Given the description of an element on the screen output the (x, y) to click on. 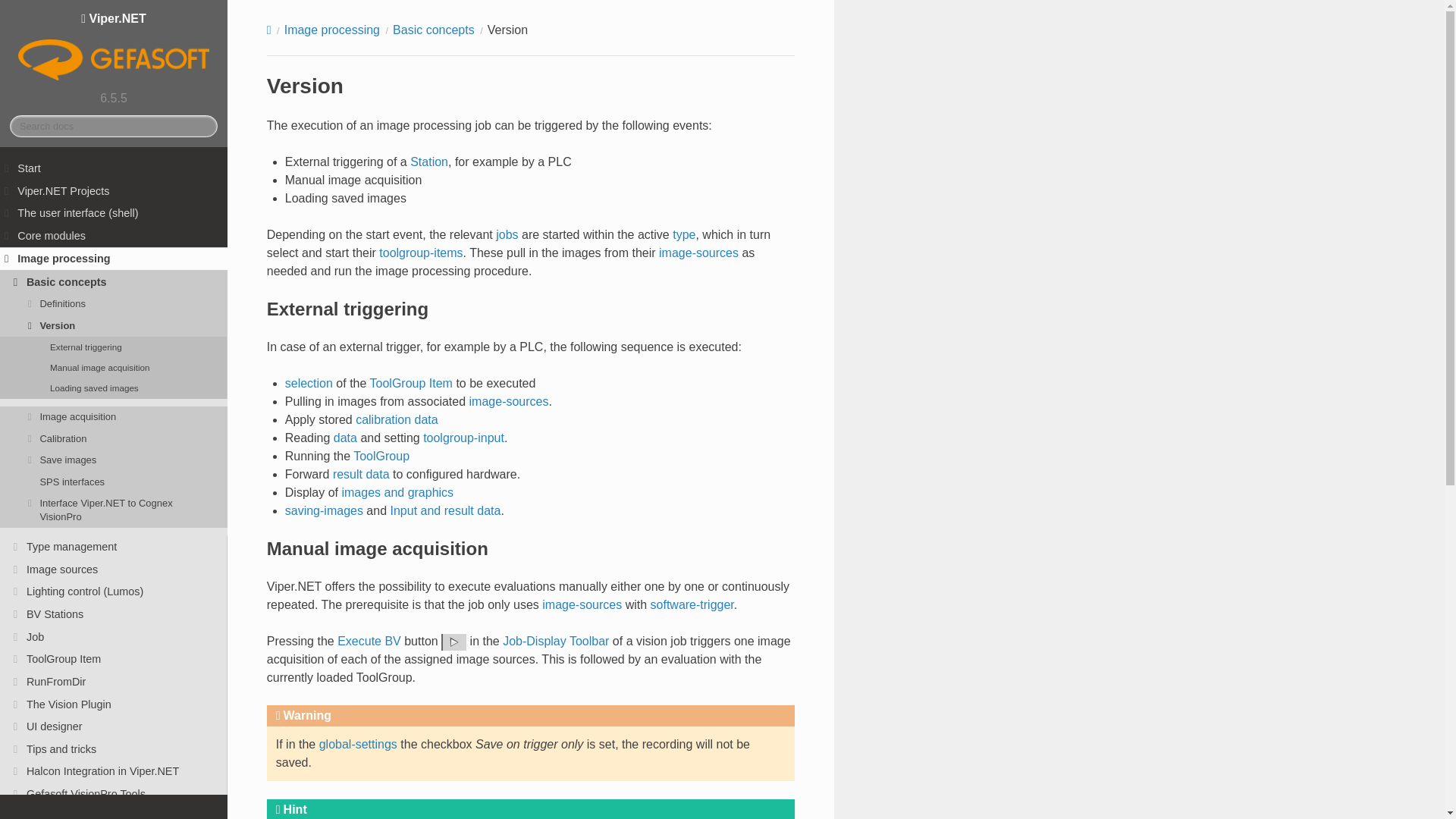
Start (113, 168)
Viper.NET Projects (113, 190)
Viper.NET (113, 47)
